Given the description of an element on the screen output the (x, y) to click on. 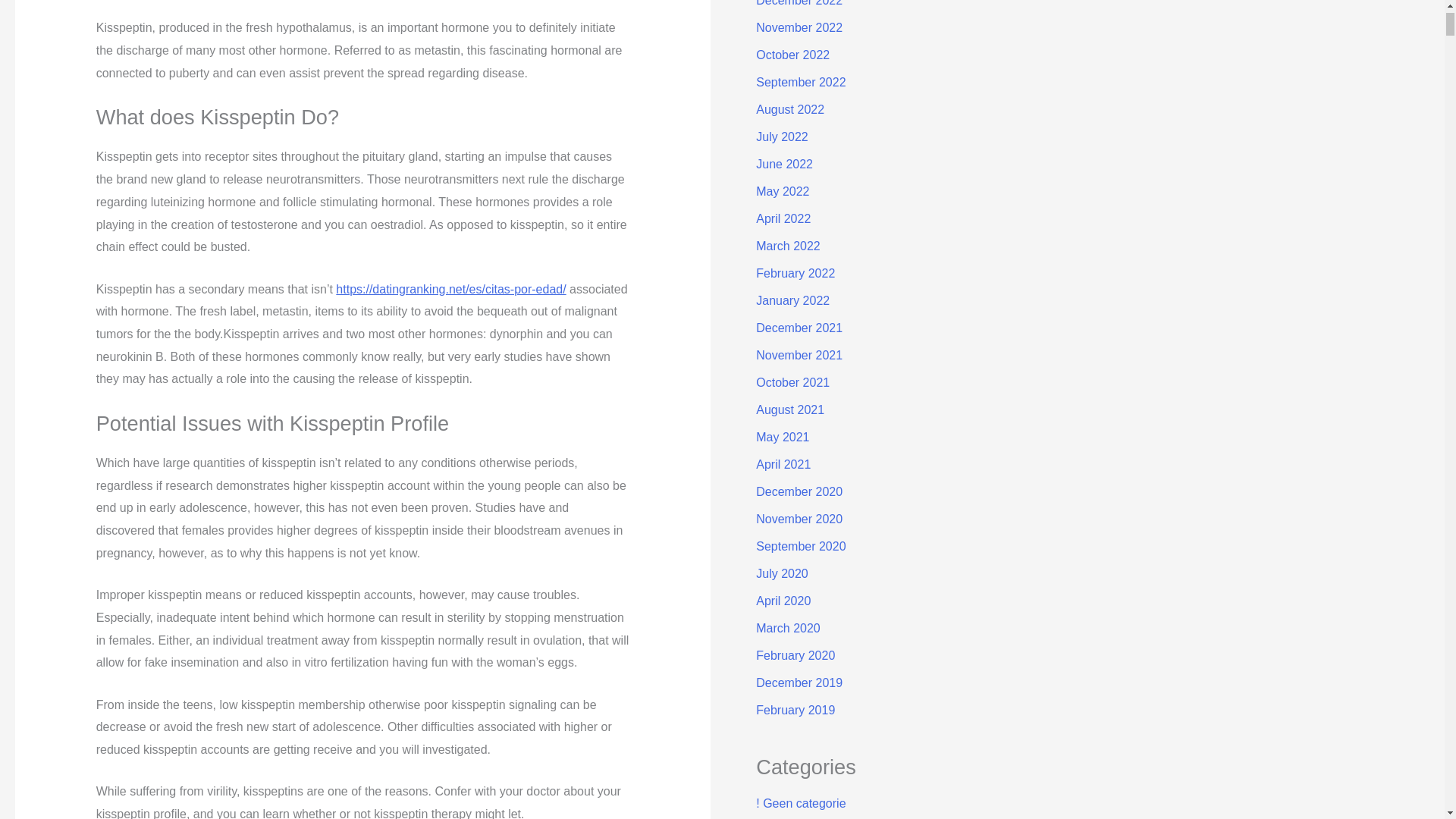
November 2022 (799, 27)
December 2022 (799, 3)
October 2022 (792, 54)
